Given the description of an element on the screen output the (x, y) to click on. 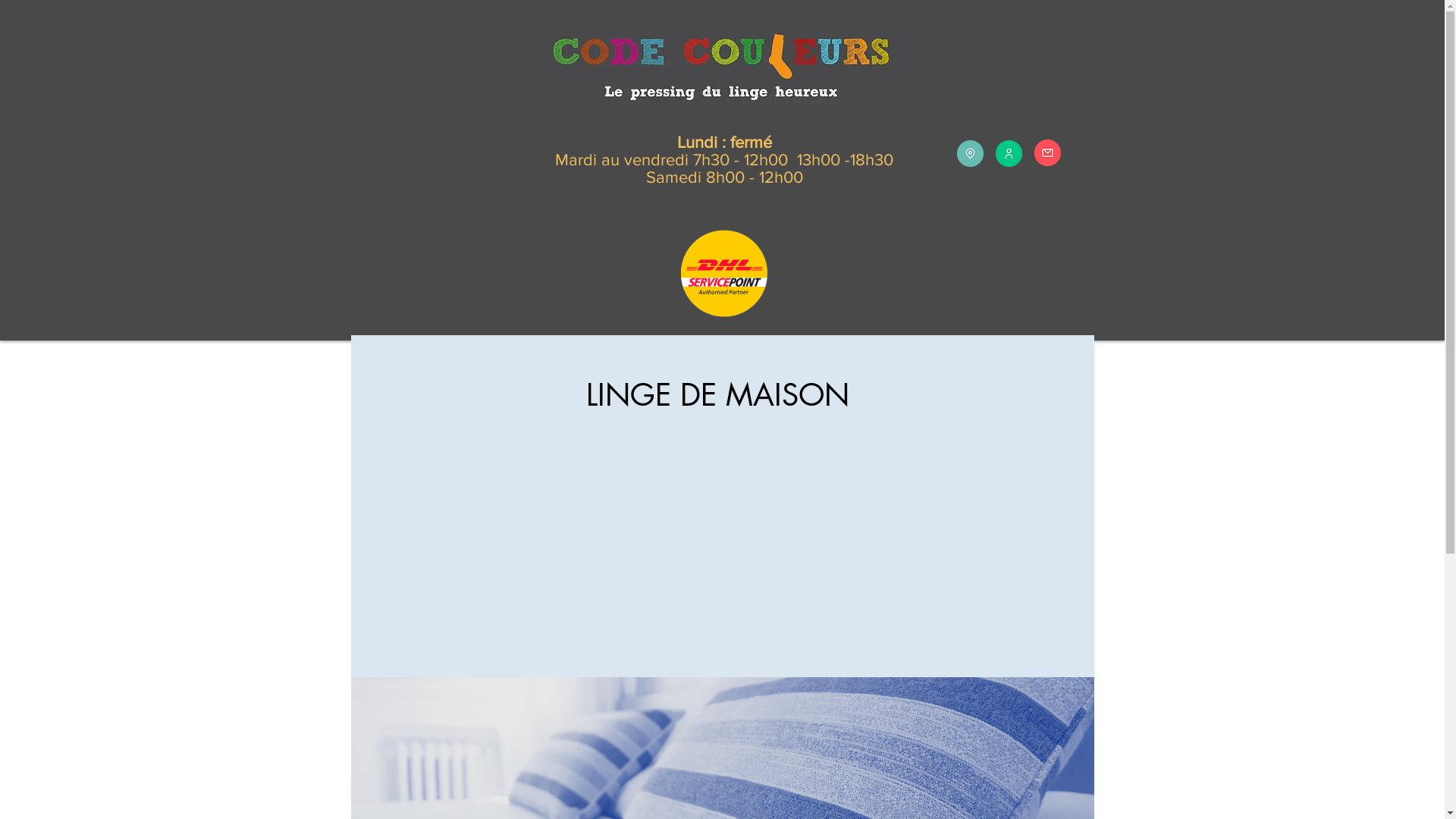
CONTACT Element type: hover (1047, 152)
QUI SOMMES-NOUS Element type: hover (1007, 153)
NOUS TROUVER Element type: hover (970, 153)
